Given the description of an element on the screen output the (x, y) to click on. 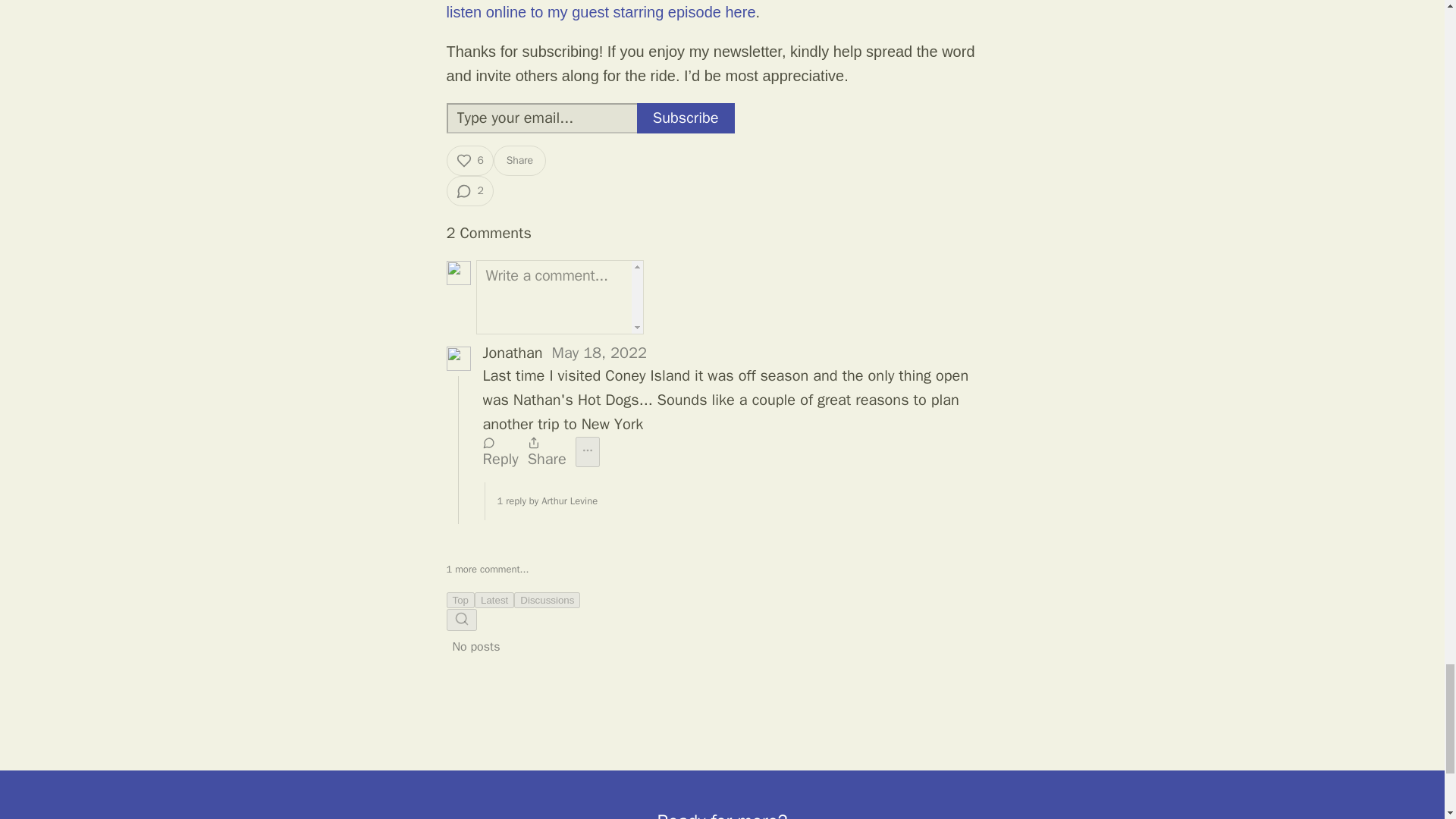
Subscribe (686, 118)
listen online to my guest starring episode here (600, 12)
6 (469, 160)
